Given the description of an element on the screen output the (x, y) to click on. 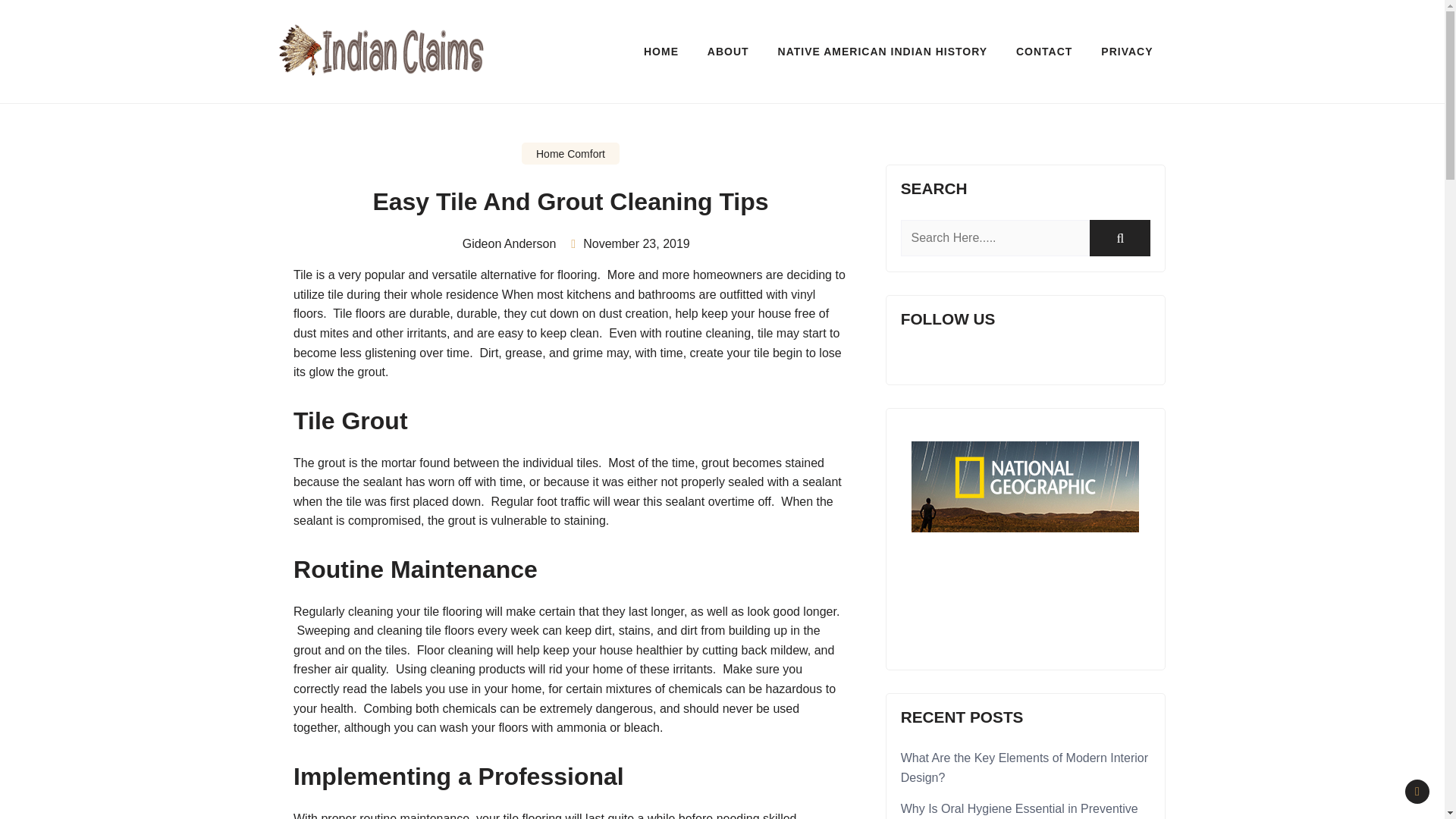
PRIVACY (1126, 51)
HOME (660, 51)
ABOUT (727, 51)
November 23, 2019 (636, 243)
NATIVE AMERICAN INDIAN HISTORY (883, 51)
Home Comfort (570, 153)
What Are the Key Elements of Modern Interior Design? (1024, 767)
Gideon Anderson (503, 243)
INDIAN CLAIMS (333, 100)
Why Is Oral Hygiene Essential in Preventive Dentistry? (1019, 810)
CONTACT (1043, 51)
